Given the description of an element on the screen output the (x, y) to click on. 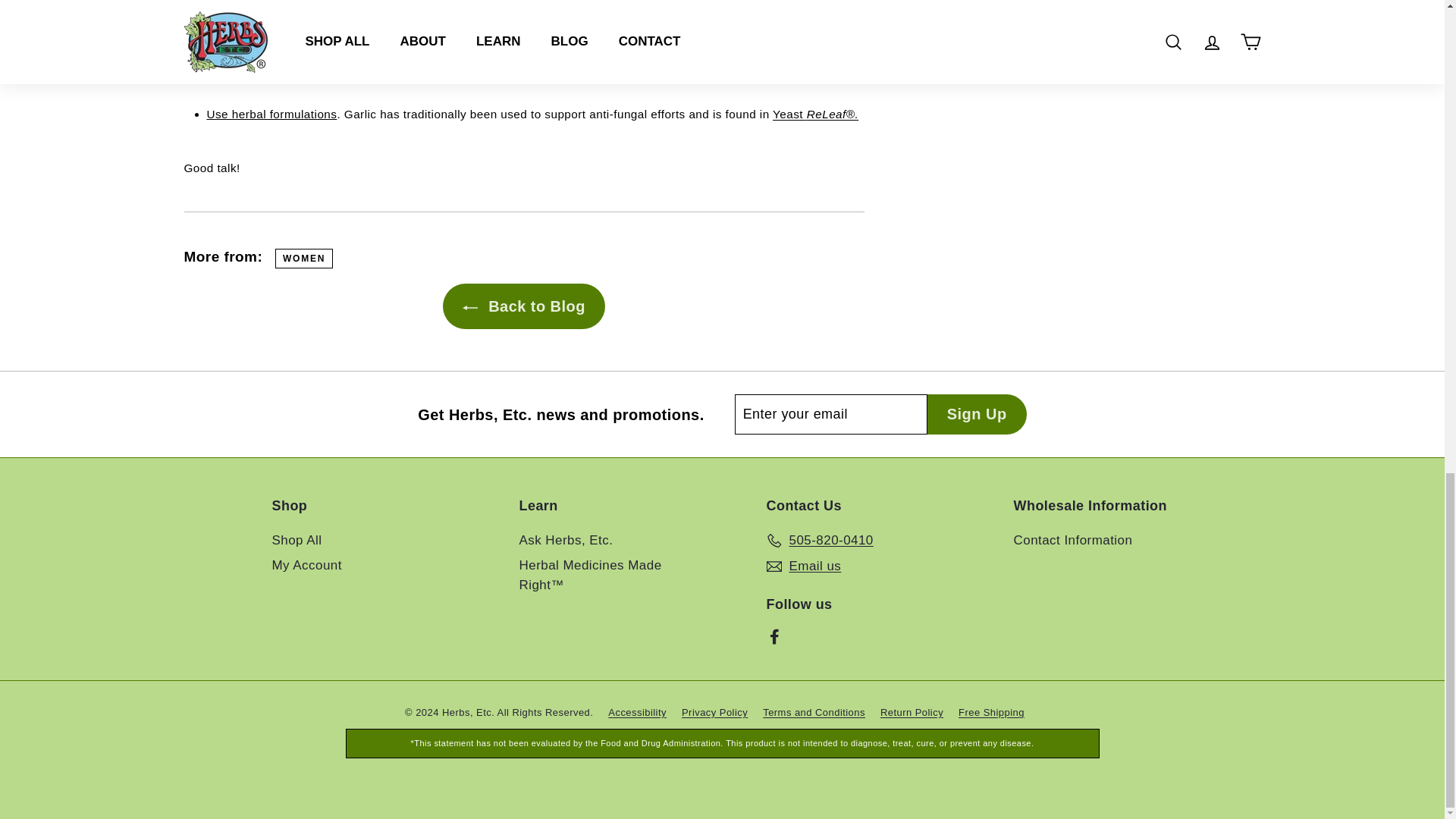
WOMEN (304, 258)
Back to Blog (523, 306)
Herbs, Etc.  on Facebook (773, 636)
